Given the description of an element on the screen output the (x, y) to click on. 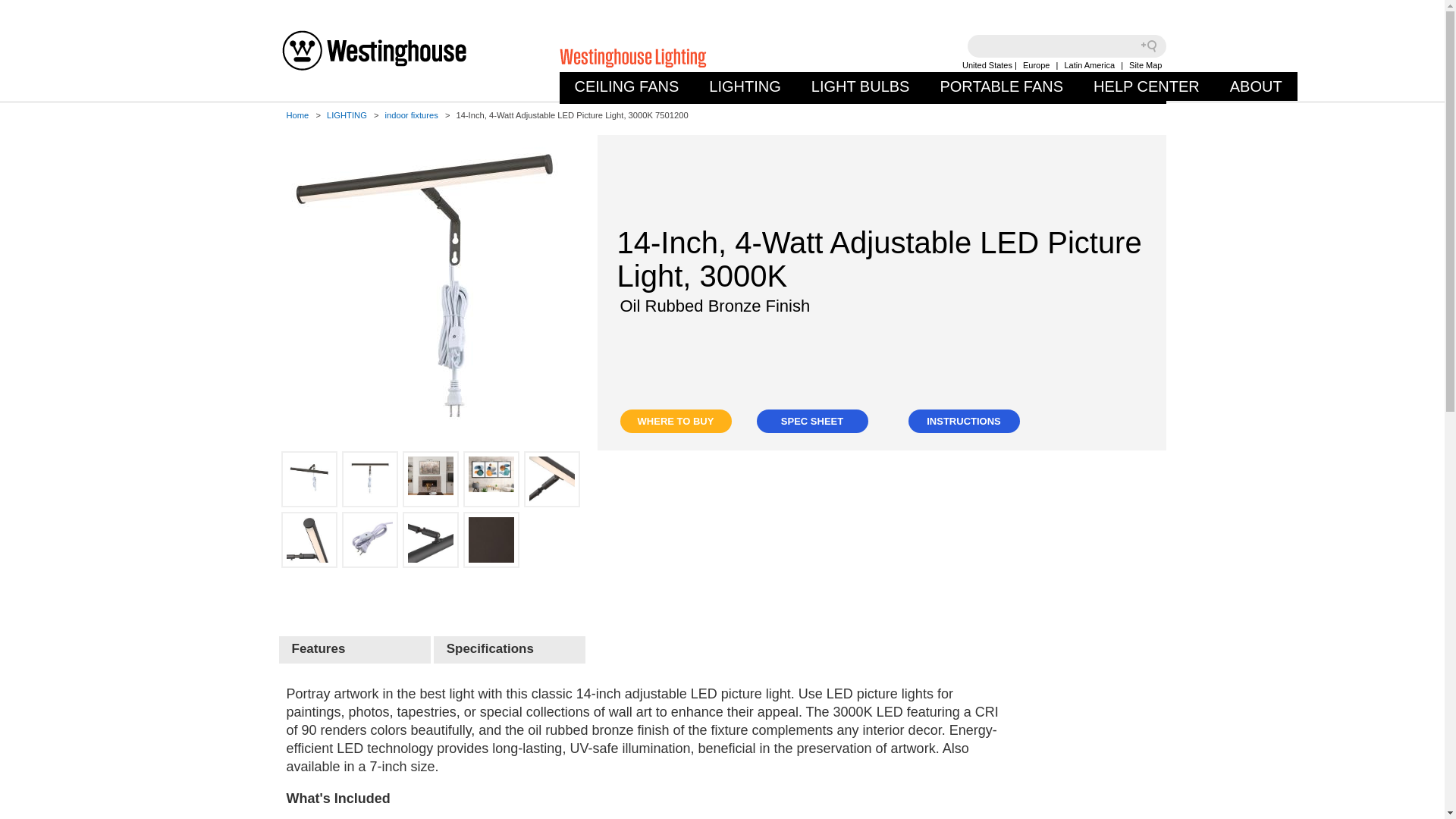
Site Map (1145, 64)
LIGHTING (744, 85)
Europe (1035, 64)
Site Map (1145, 64)
Latin America (1088, 64)
CEILING FANS (627, 85)
LIGHTING (744, 85)
CEILING FANS (627, 85)
Specifications (509, 648)
Features (354, 648)
LIGHT BULBS (860, 85)
